Given the description of an element on the screen output the (x, y) to click on. 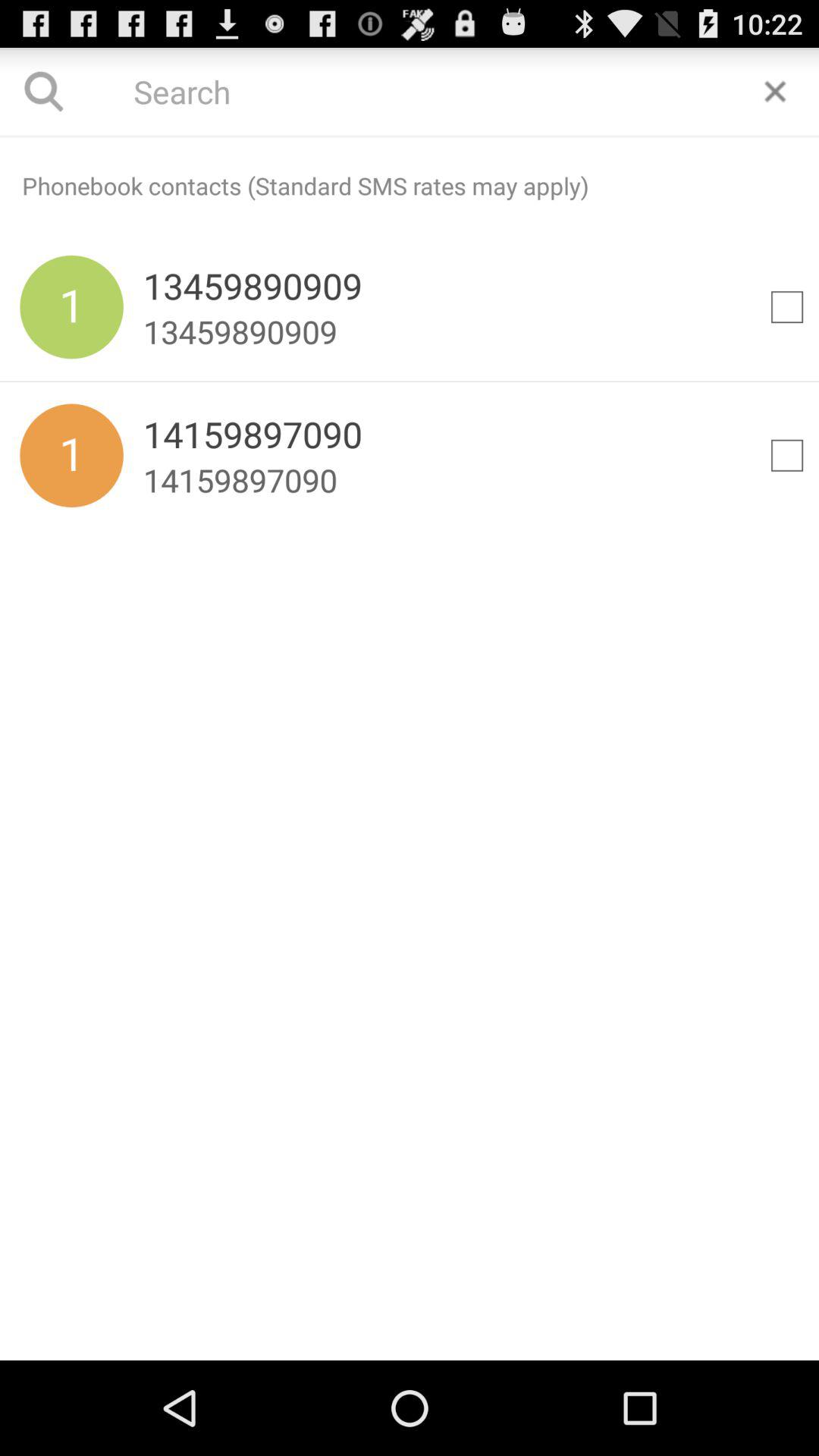
search field (409, 136)
